Given the description of an element on the screen output the (x, y) to click on. 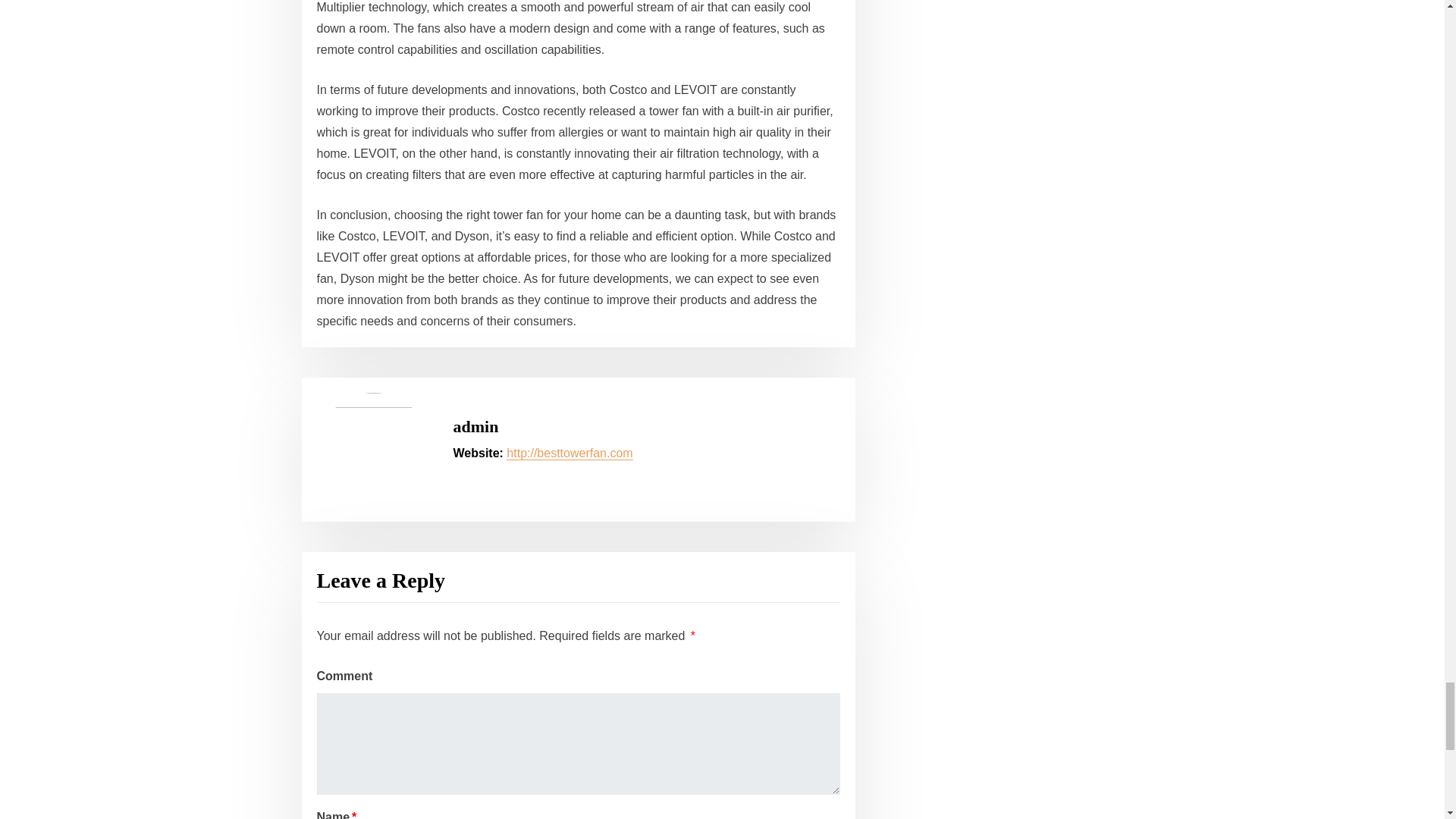
admin (475, 425)
